Given the description of an element on the screen output the (x, y) to click on. 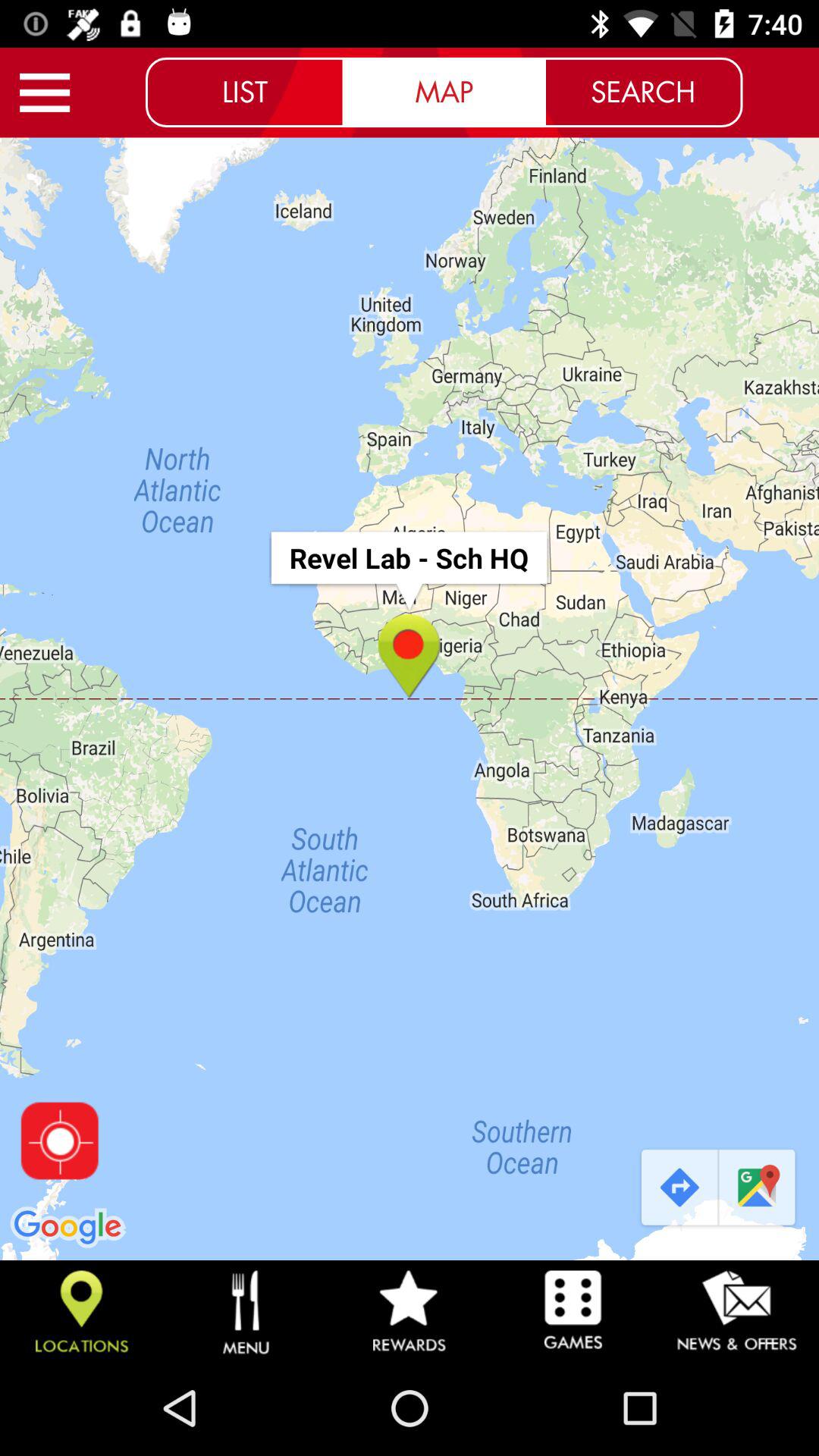
menu (44, 92)
